Given the description of an element on the screen output the (x, y) to click on. 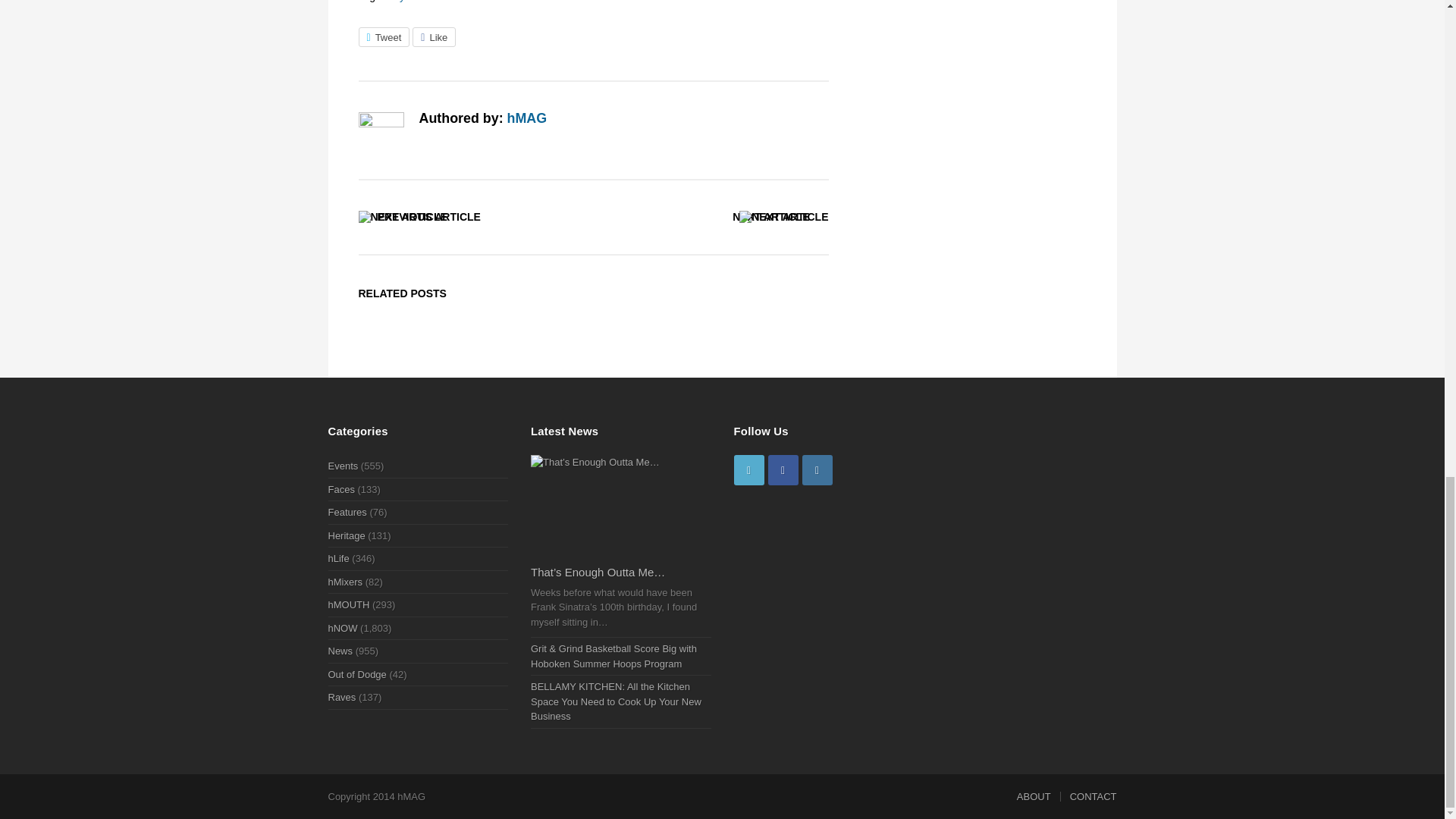
Like (433, 36)
NEXT ARTICLE (770, 216)
Tweet (383, 36)
PREVIOUS ARTICLE (428, 216)
hMAG (526, 118)
Share on Twitter (383, 36)
City Hall (406, 1)
Visit Author Page (526, 118)
Visit Author Page (380, 135)
Share on Facebook (433, 36)
